Given the description of an element on the screen output the (x, y) to click on. 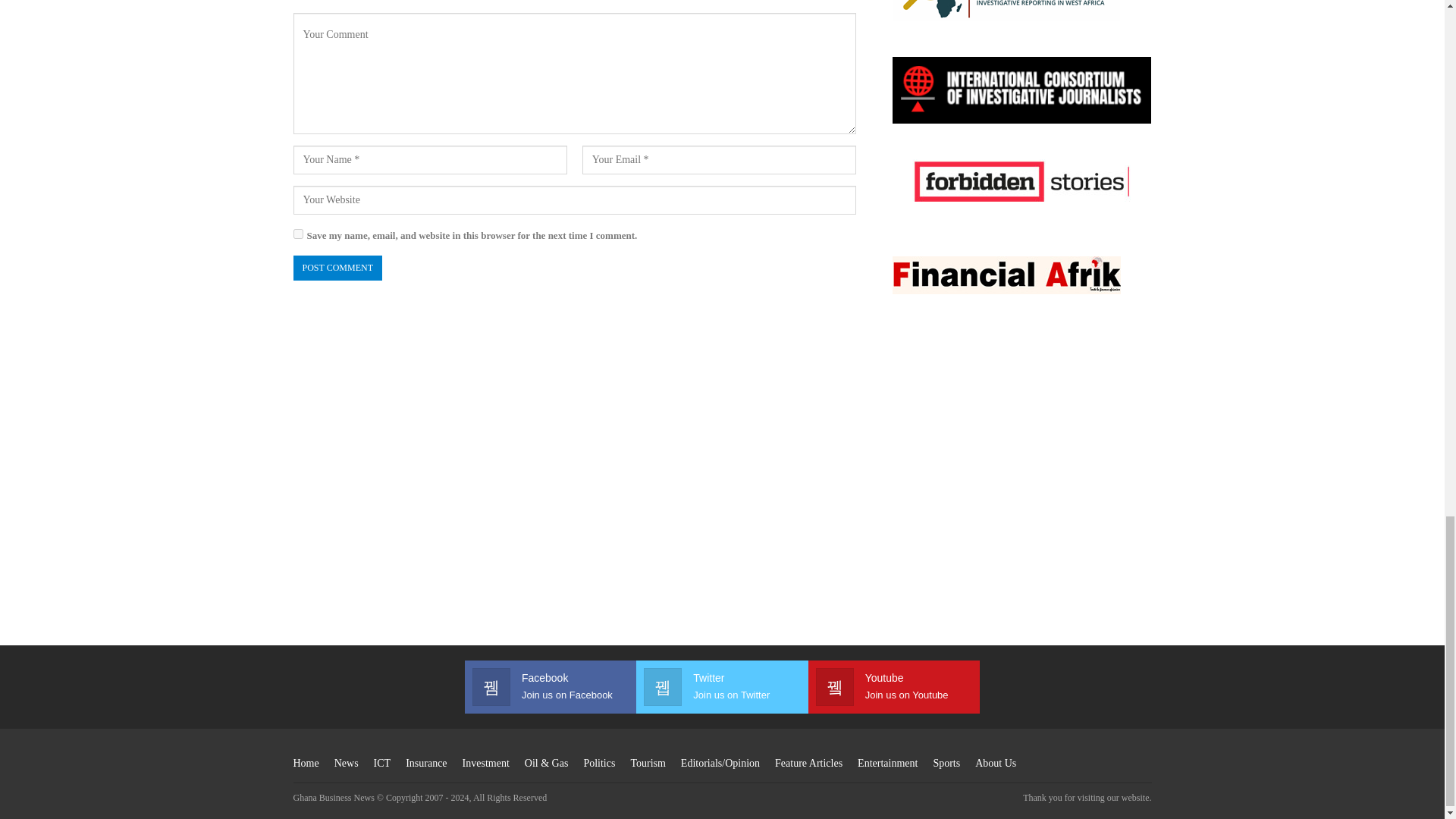
yes (297, 234)
Post Comment (336, 267)
